Given the description of an element on the screen output the (x, y) to click on. 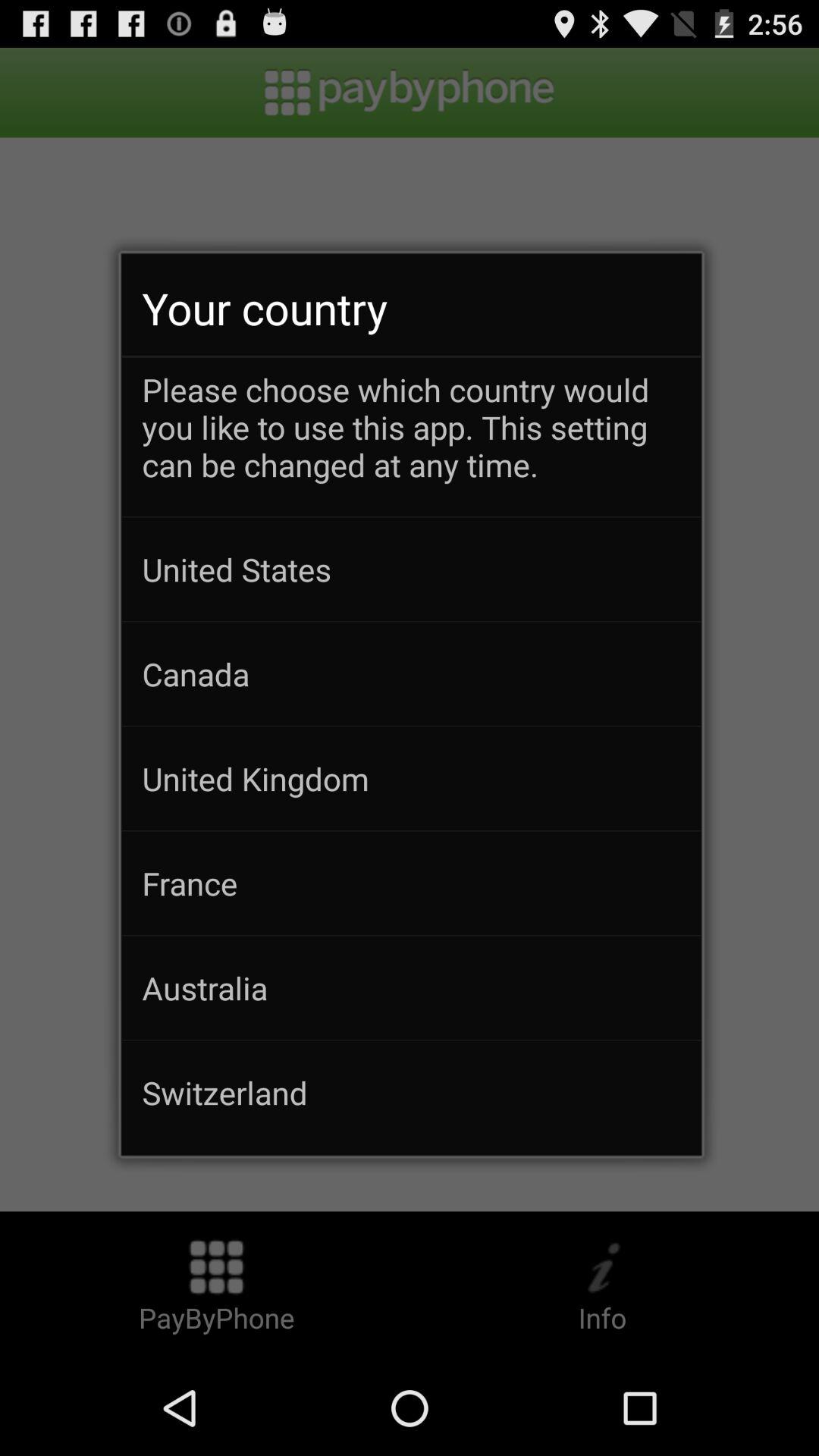
choose the switzerland (411, 1092)
